Given the description of an element on the screen output the (x, y) to click on. 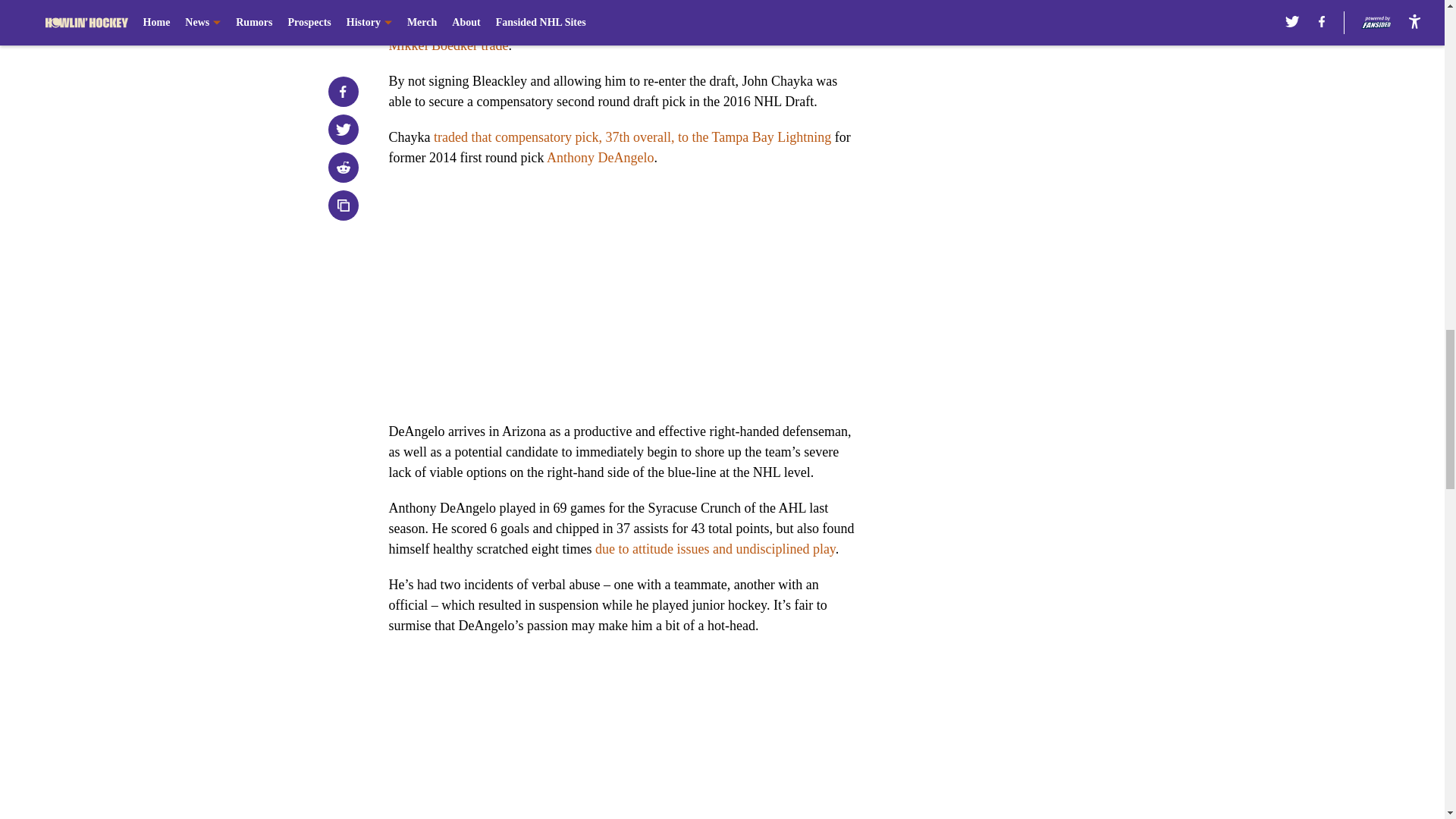
due to attitude issues and undisciplined play (715, 548)
Anthony DeAngelo (600, 157)
part of the Mikkel Boedker trade (608, 35)
